Given the description of an element on the screen output the (x, y) to click on. 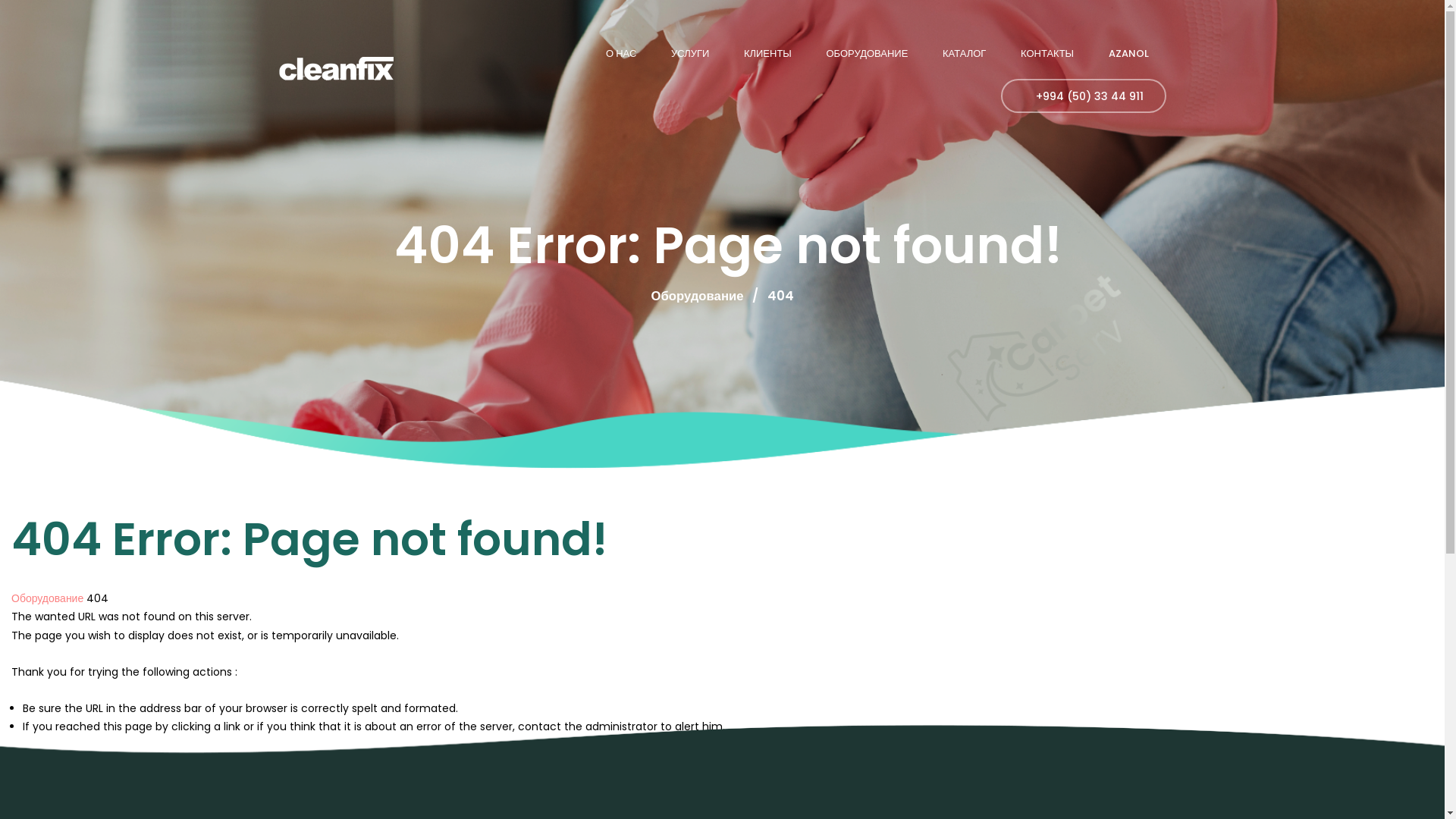
+994 (50) 33 44 911 Element type: text (1083, 95)
AZANOL Element type: text (1128, 51)
